Given the description of an element on the screen output the (x, y) to click on. 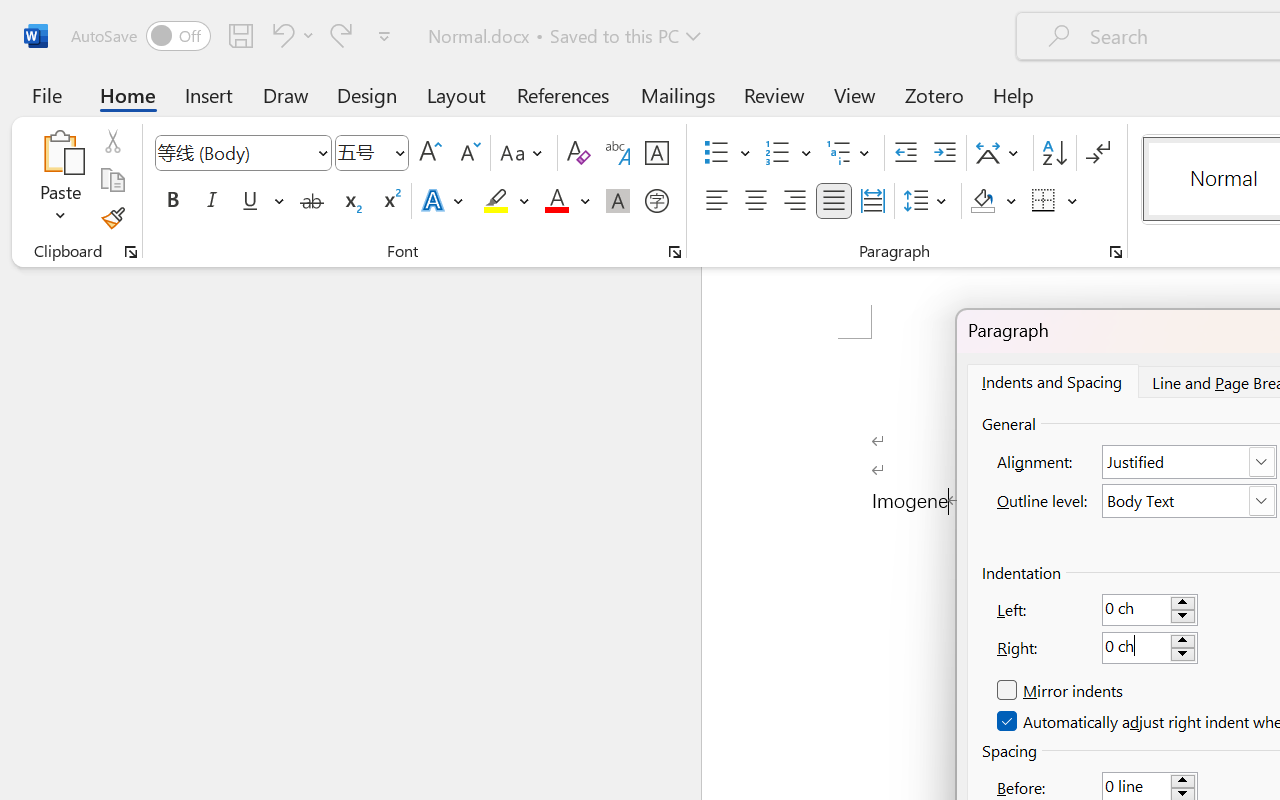
Alignment: (1189, 461)
Bold (172, 201)
Distributed (872, 201)
Strikethrough (312, 201)
Redo Style (341, 35)
Grow Font (430, 153)
